Given the description of an element on the screen output the (x, y) to click on. 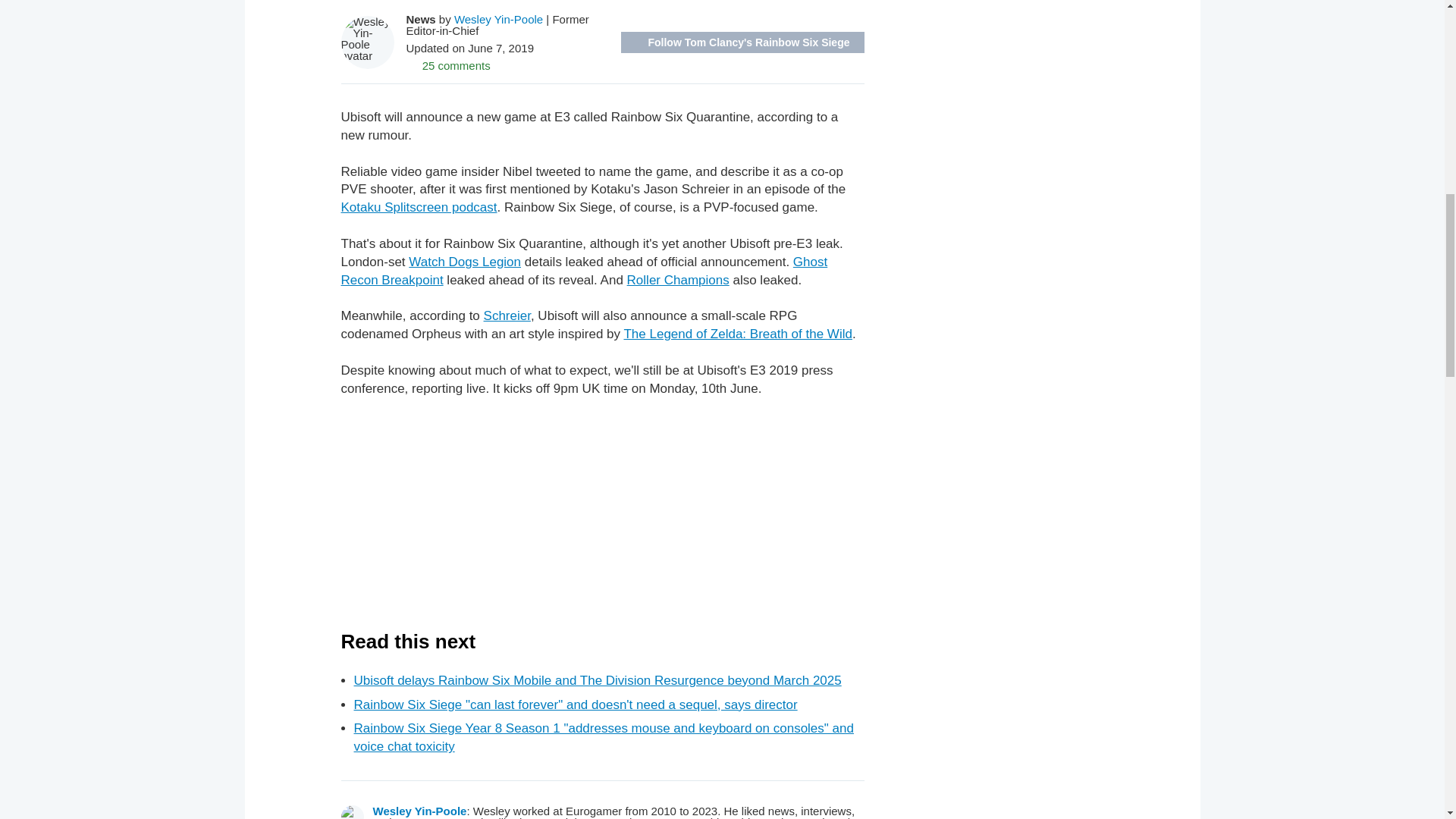
Follow Tom Clancy's Rainbow Six Siege (741, 42)
Watch Dogs Legion (465, 261)
Schreier (507, 315)
Roller Champions (678, 279)
Wesley Yin-Poole (498, 19)
25 comments (448, 65)
Kotaku Splitscreen podcast (418, 206)
The Legend of Zelda: Breath of the Wild (737, 333)
